Given the description of an element on the screen output the (x, y) to click on. 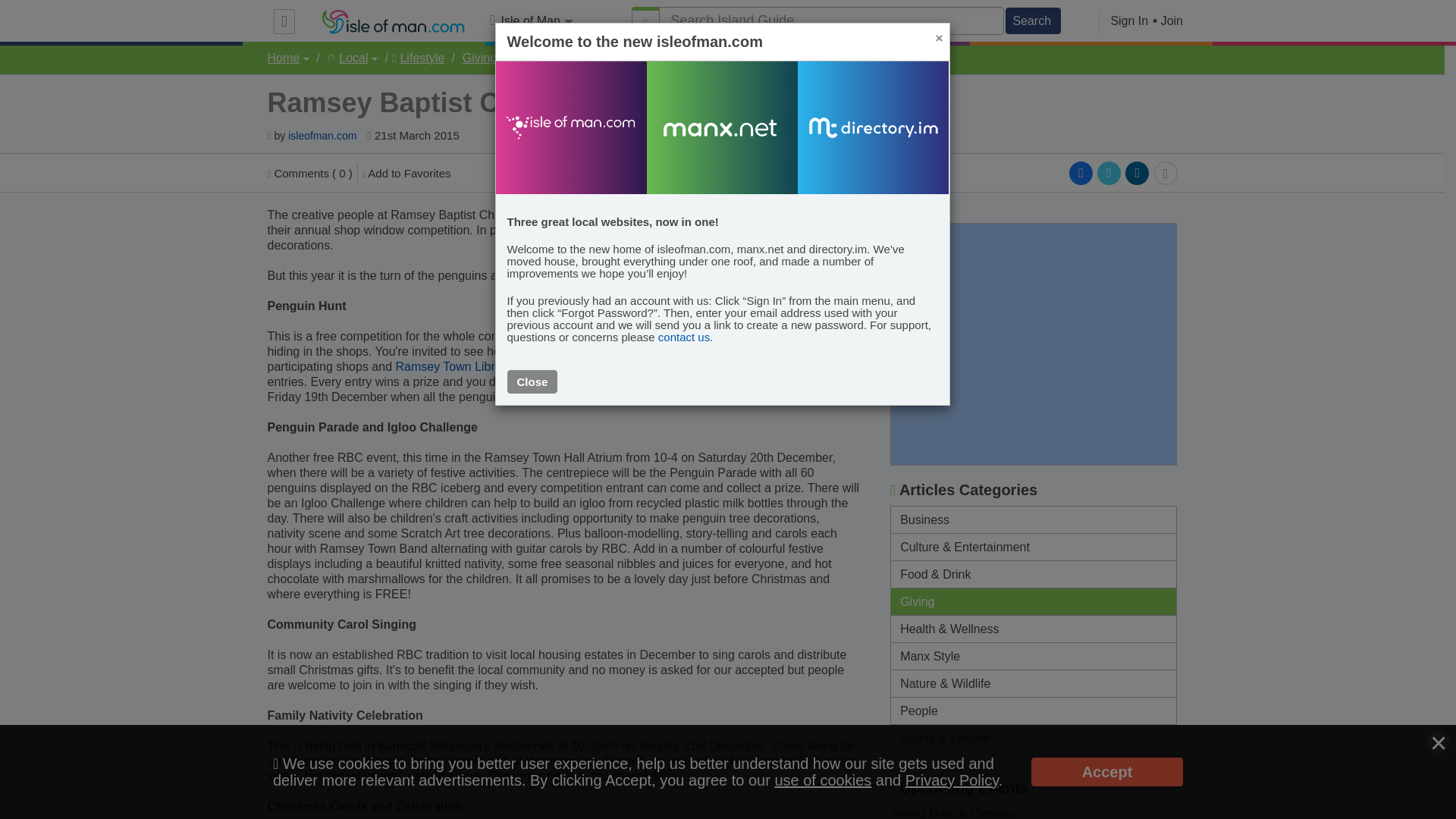
Isle of Man (531, 21)
